Given the description of an element on the screen output the (x, y) to click on. 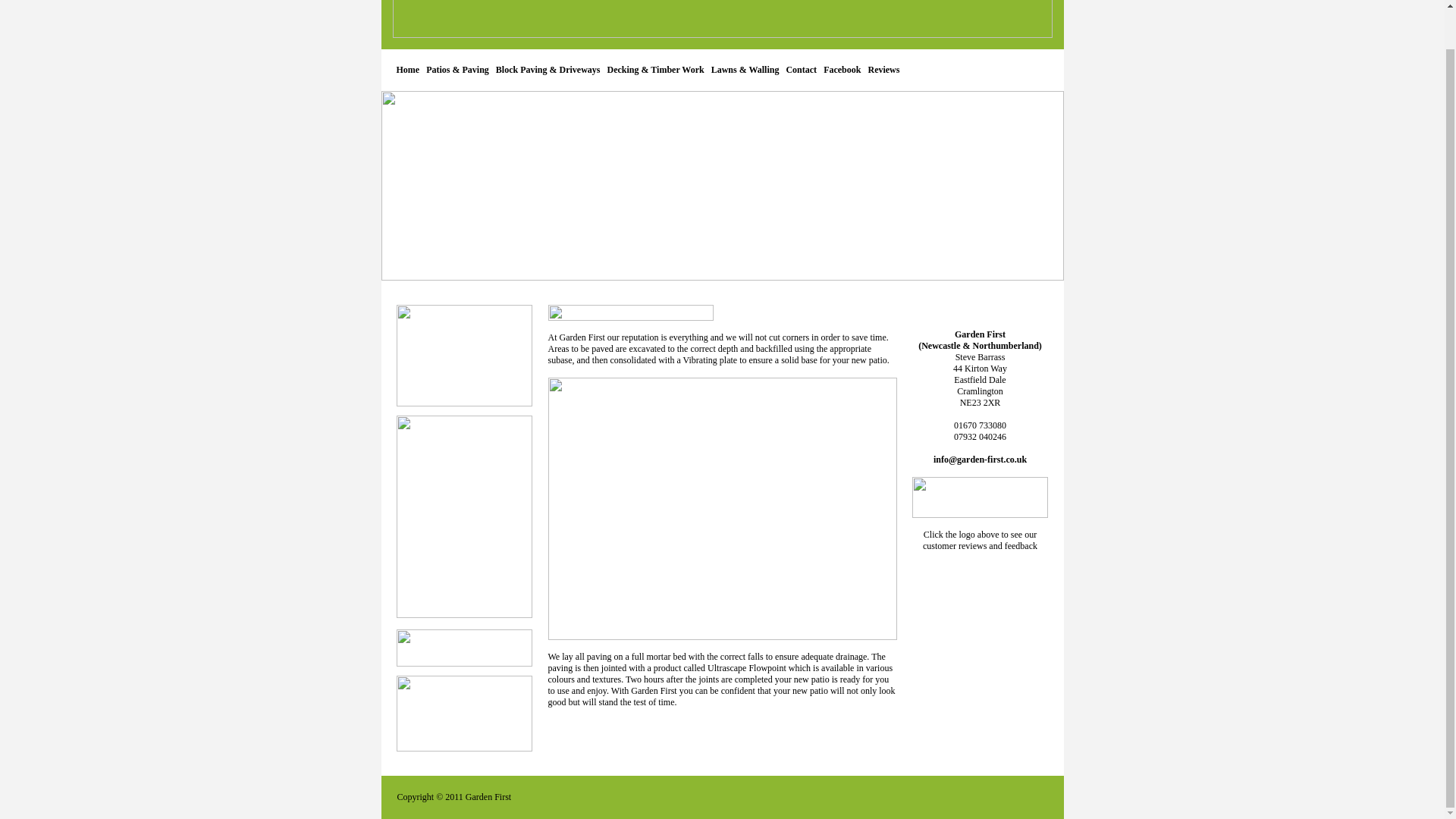
Facebook (842, 69)
Reviews (883, 69)
Contact (801, 69)
Home (407, 69)
